Given the description of an element on the screen output the (x, y) to click on. 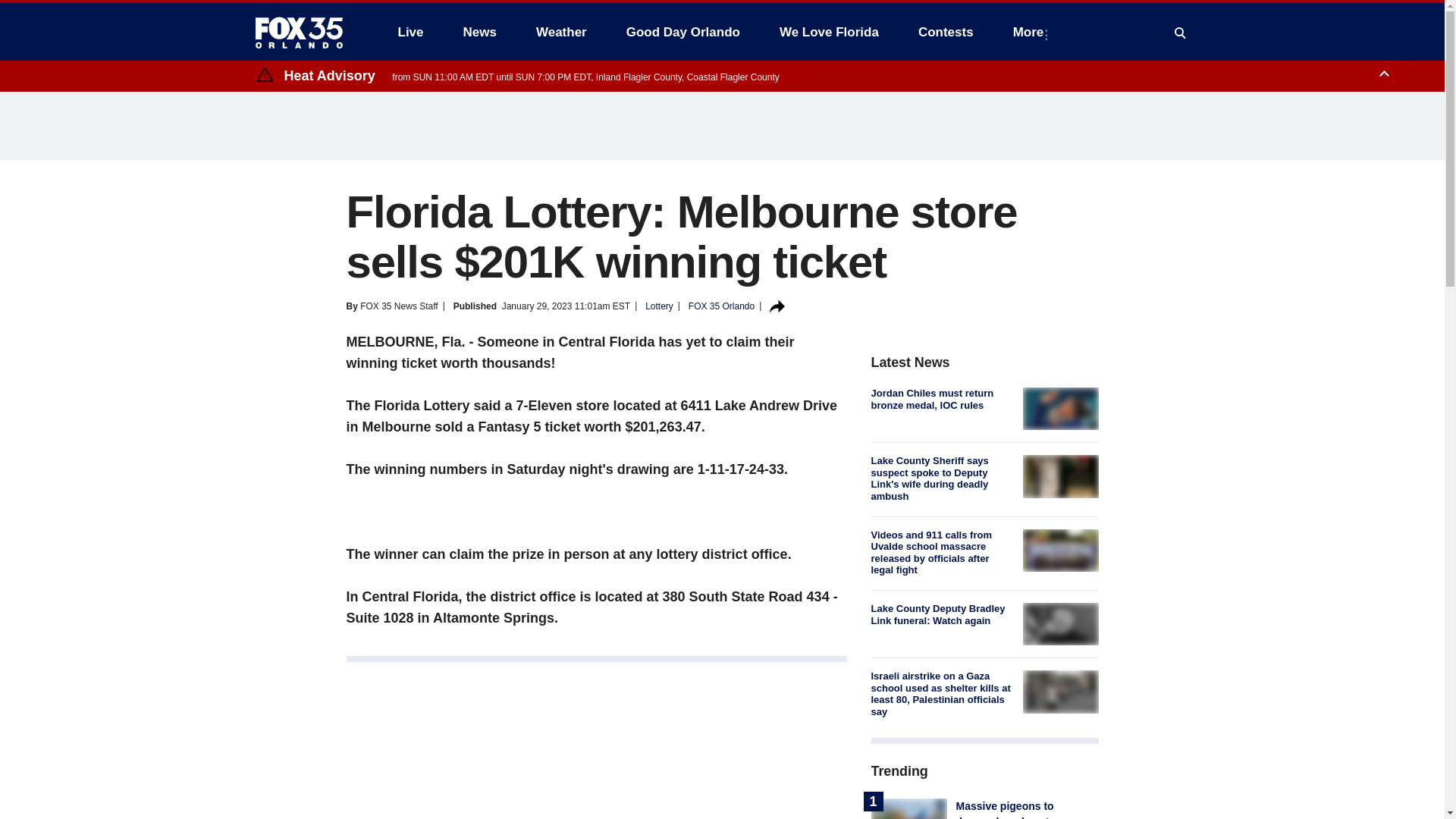
Contests (945, 32)
Live (410, 32)
We Love Florida (829, 32)
Weather (561, 32)
Good Day Orlando (683, 32)
News (479, 32)
More (1031, 32)
